Given the description of an element on the screen output the (x, y) to click on. 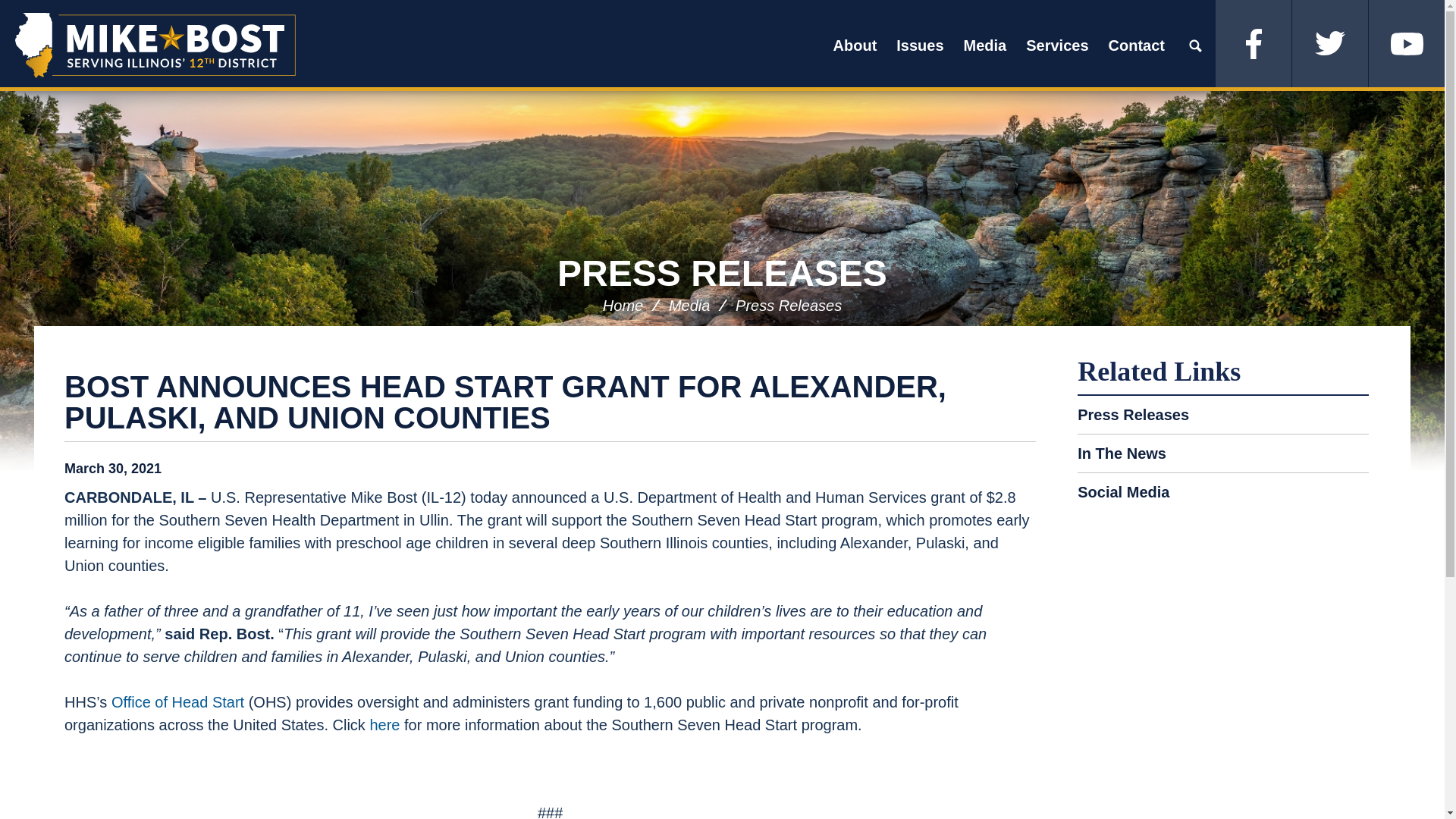
Services (1056, 45)
CONGRESSMAN MIKE BOST (154, 45)
